Given the description of an element on the screen output the (x, y) to click on. 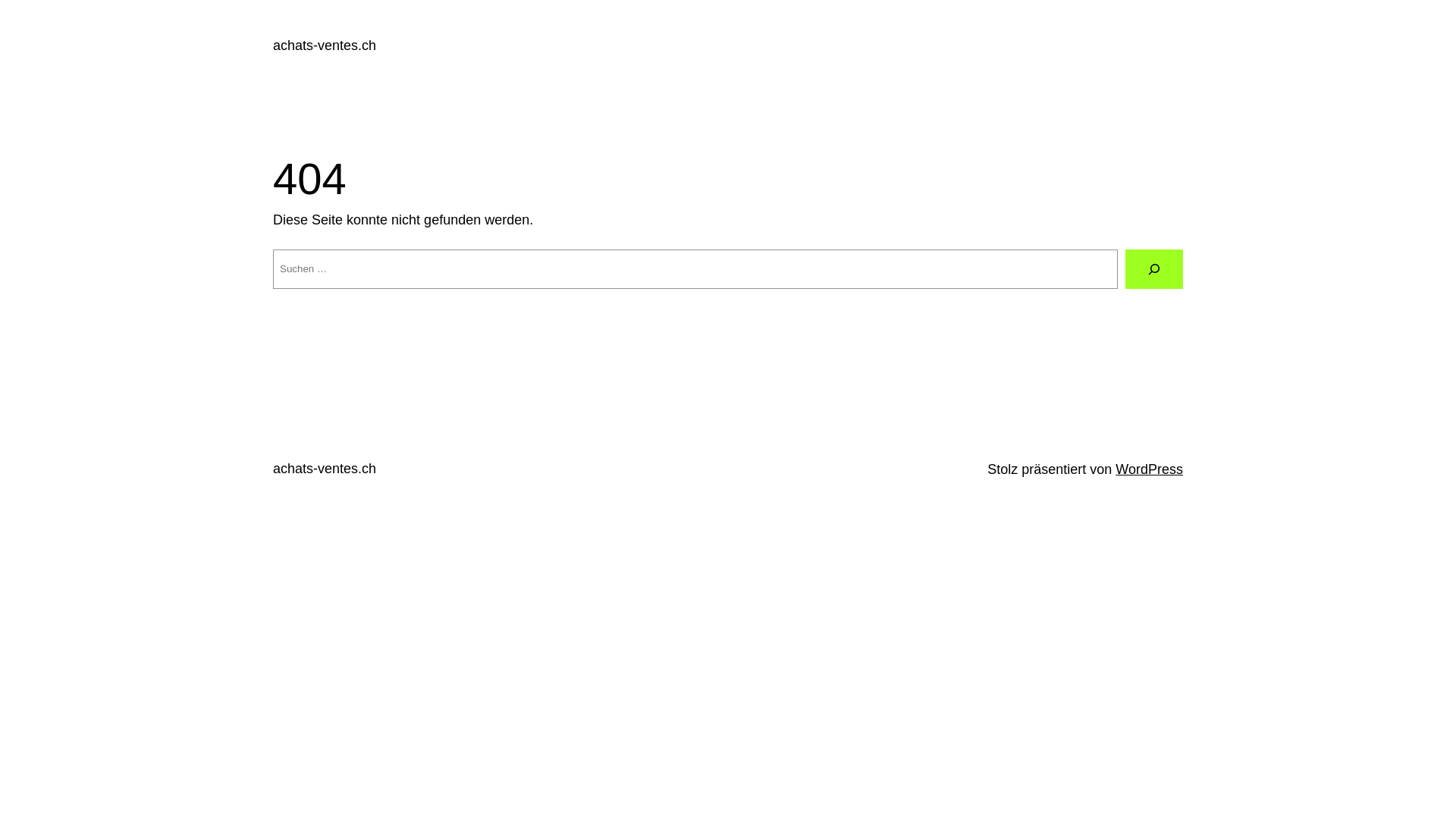
WordPress Element type: text (1149, 468)
achats-ventes.ch Element type: text (324, 45)
achats-ventes.ch Element type: text (324, 468)
